Given the description of an element on the screen output the (x, y) to click on. 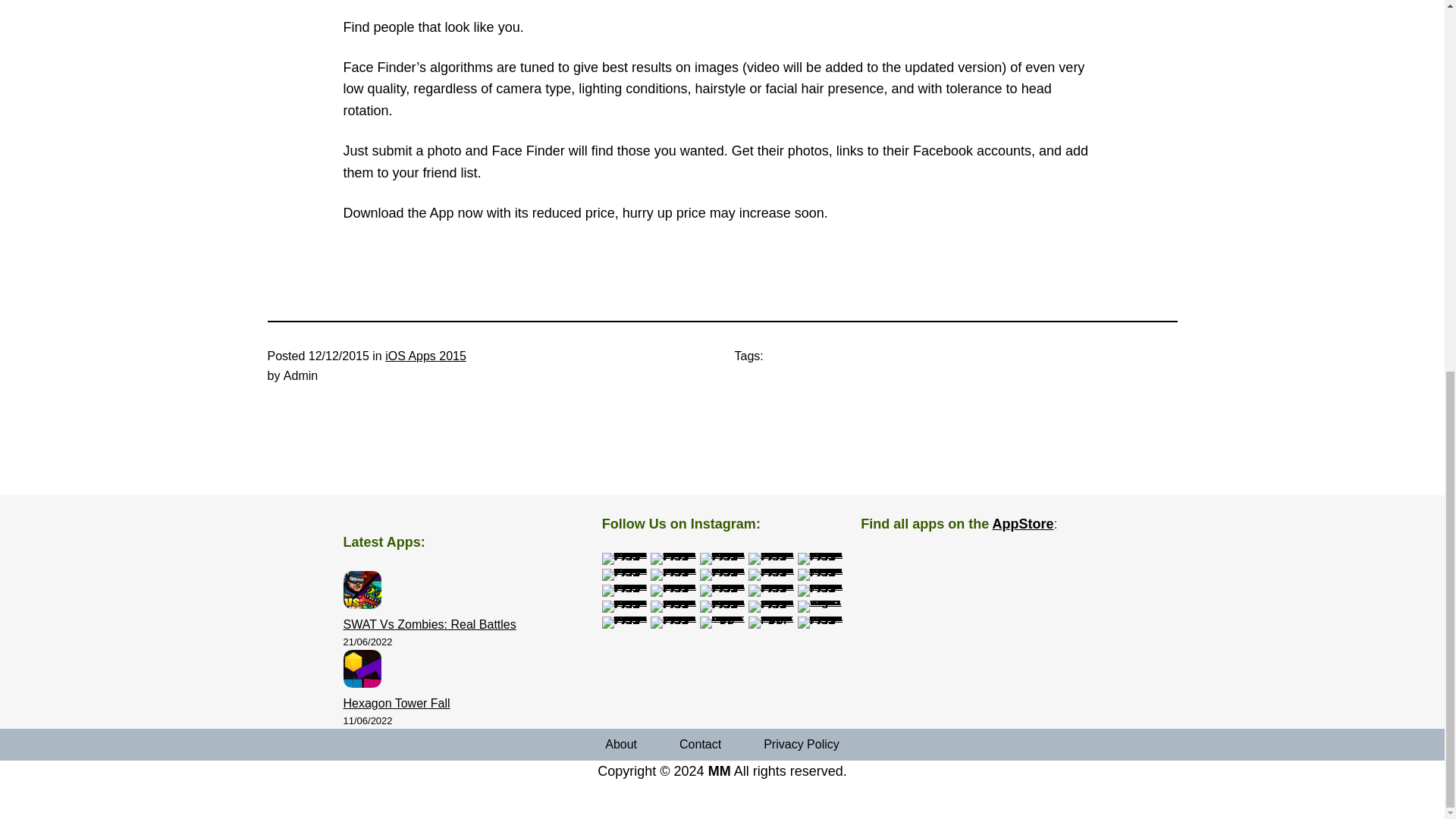
Hexagon Tower Fall (395, 703)
iOS Apps 2015 (425, 355)
SWAT Vs Zombies: Real Battles (428, 624)
